Given the description of an element on the screen output the (x, y) to click on. 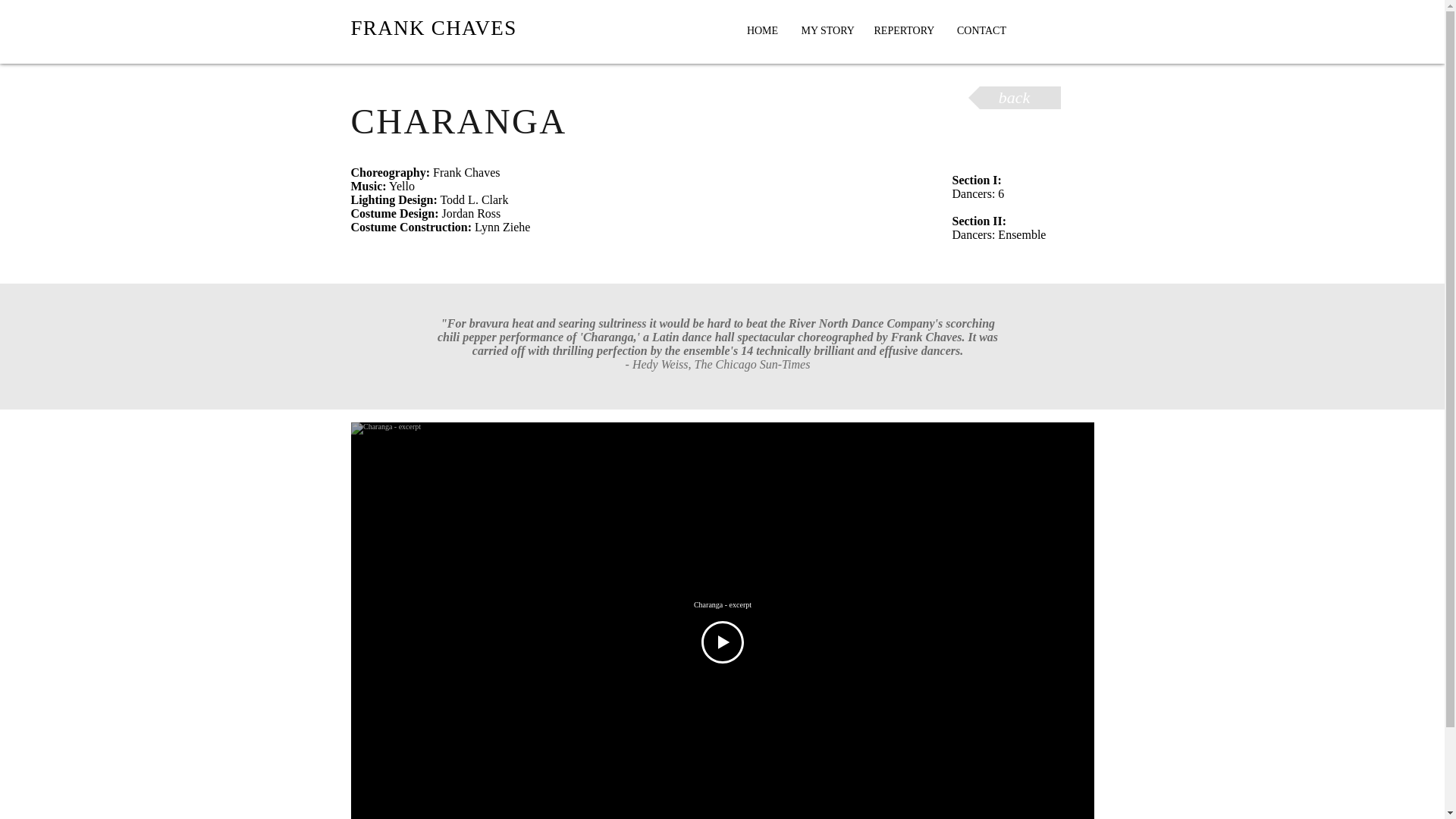
REPERTORY (903, 30)
Charanga - excerpt (721, 604)
HOME (762, 30)
MY STORY (826, 30)
back (1013, 97)
CONTACT (980, 30)
FRANK CHAVES (433, 27)
